Given the description of an element on the screen output the (x, y) to click on. 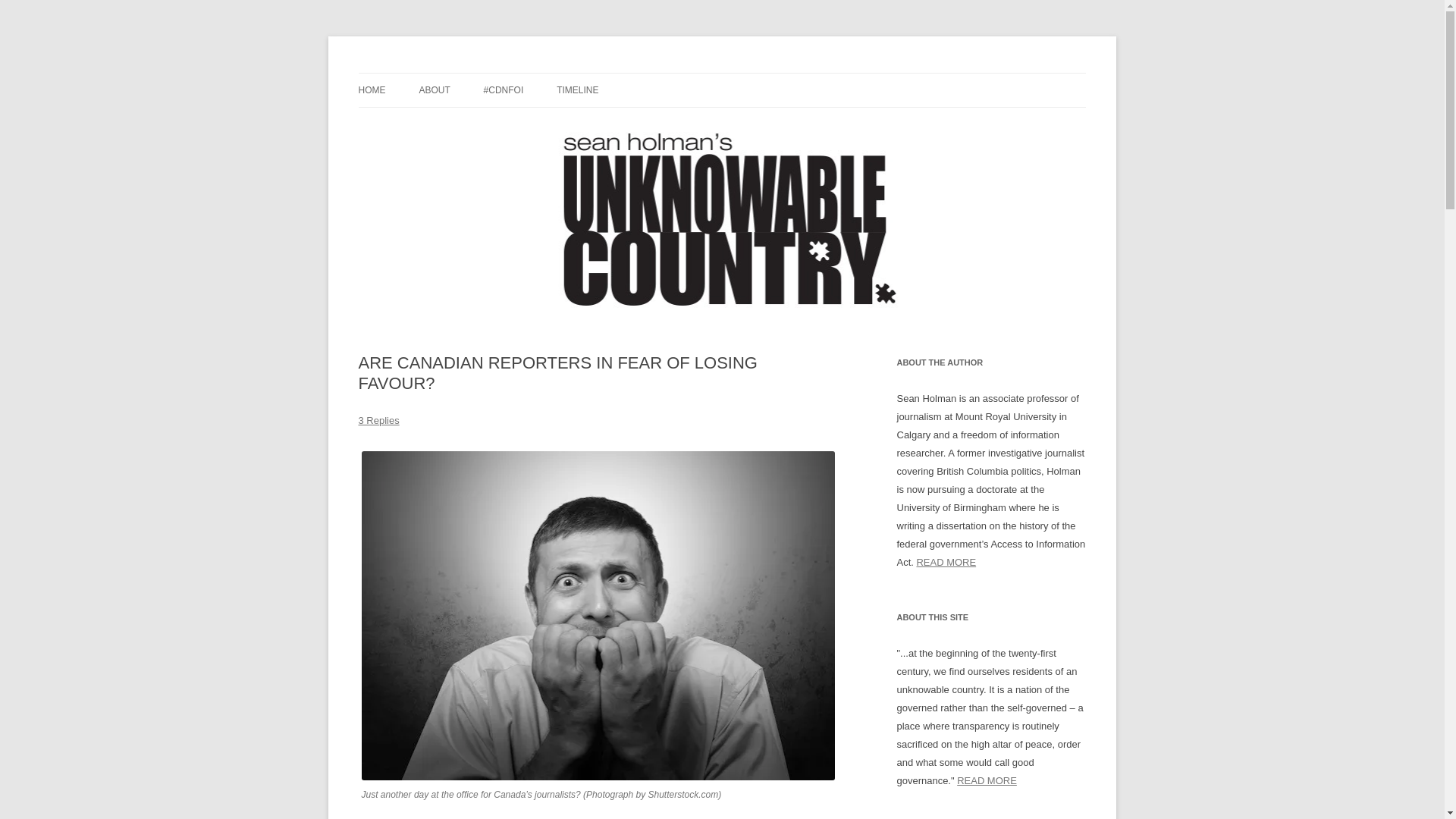
READ MORE (986, 780)
FACEBOOK (494, 122)
ABOUT (434, 90)
3 Replies (378, 419)
Sean Holman's Unknowable Country (529, 72)
Sean Holman's Unknowable Country (529, 72)
TIMELINE (577, 90)
READ MORE (945, 562)
